Given the description of an element on the screen output the (x, y) to click on. 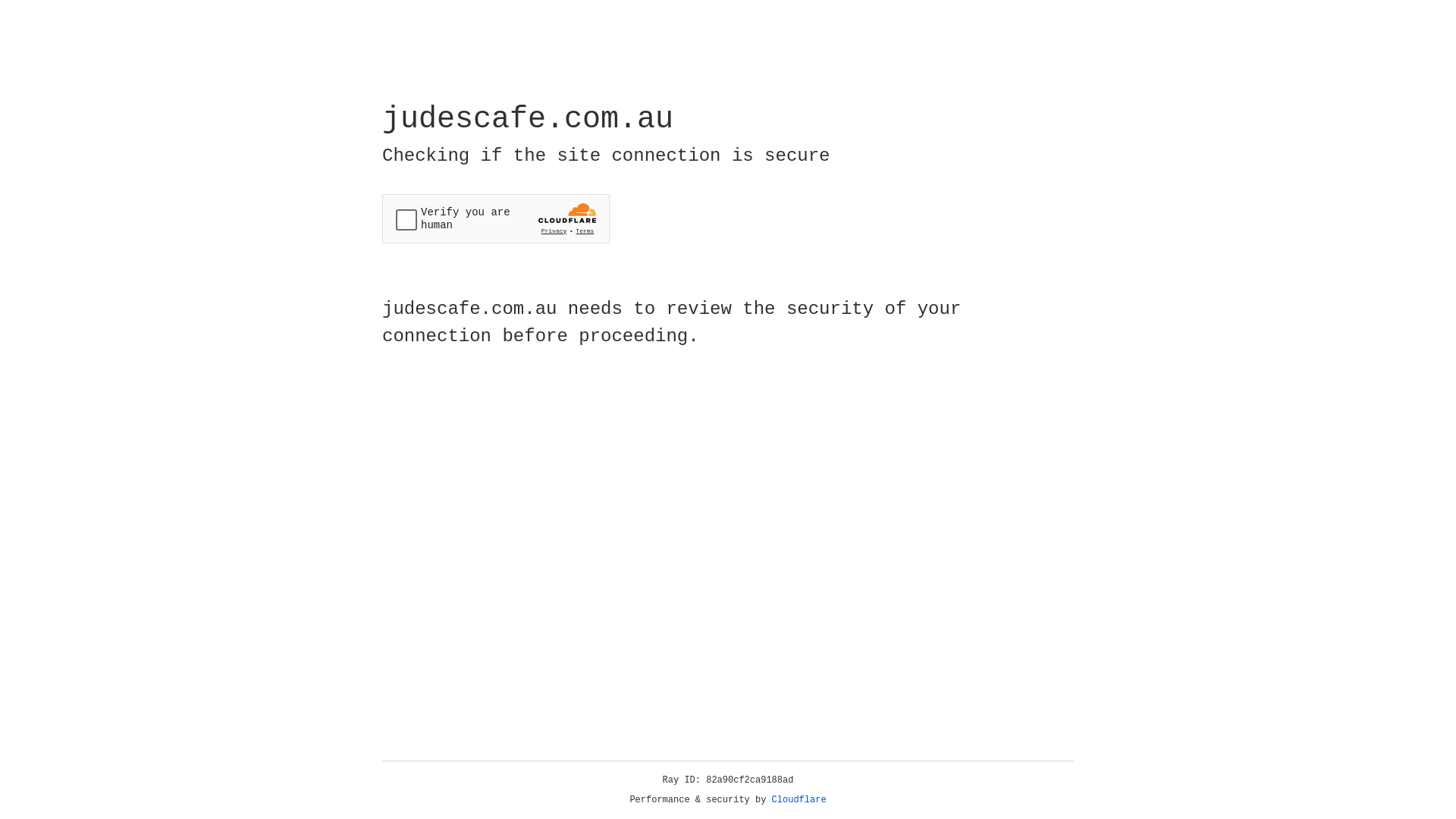
Widget containing a Cloudflare security challenge Element type: hover (495, 218)
Cloudflare Element type: text (798, 799)
